Given the description of an element on the screen output the (x, y) to click on. 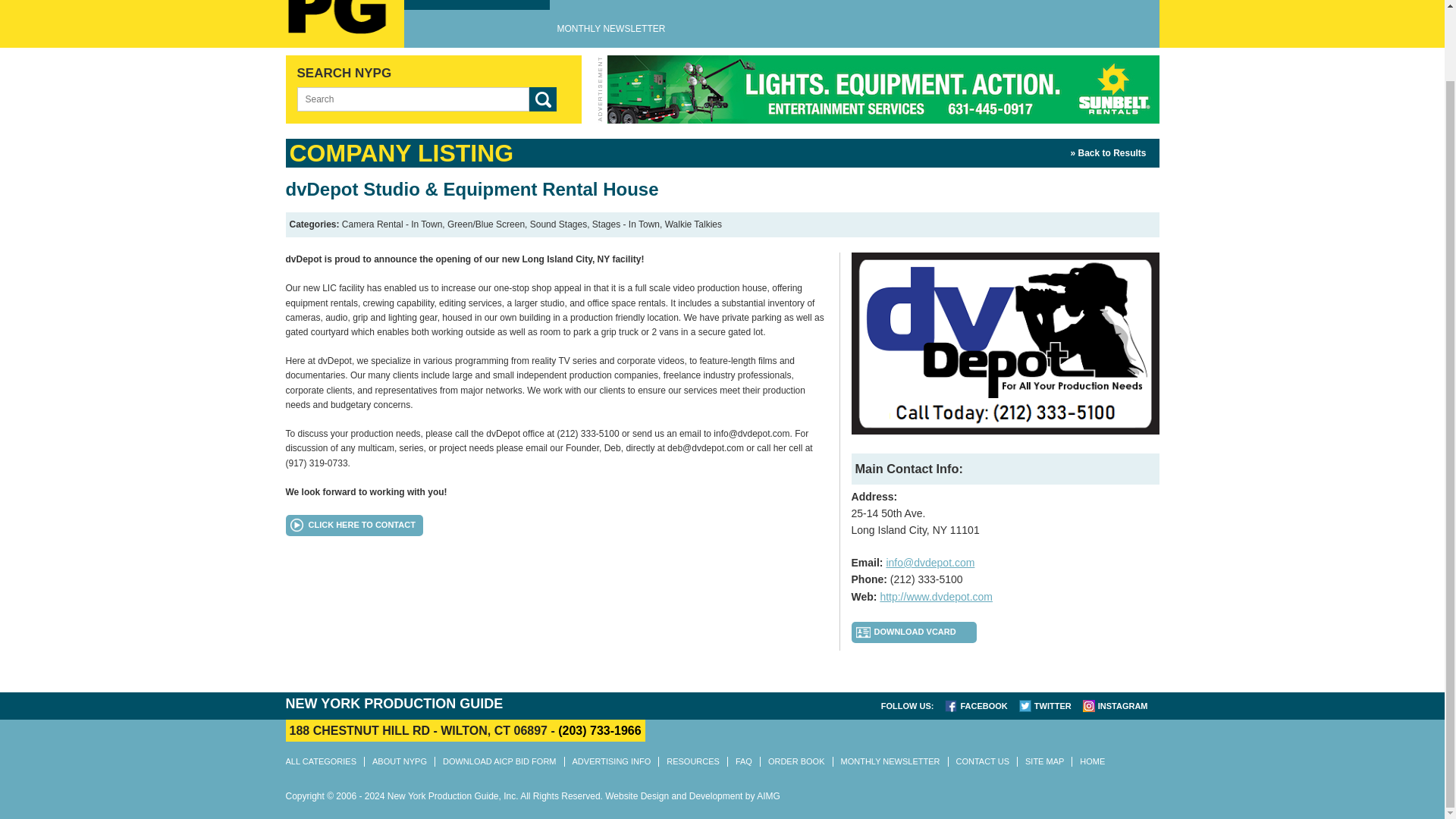
SEARCH (542, 98)
